Given the description of an element on the screen output the (x, y) to click on. 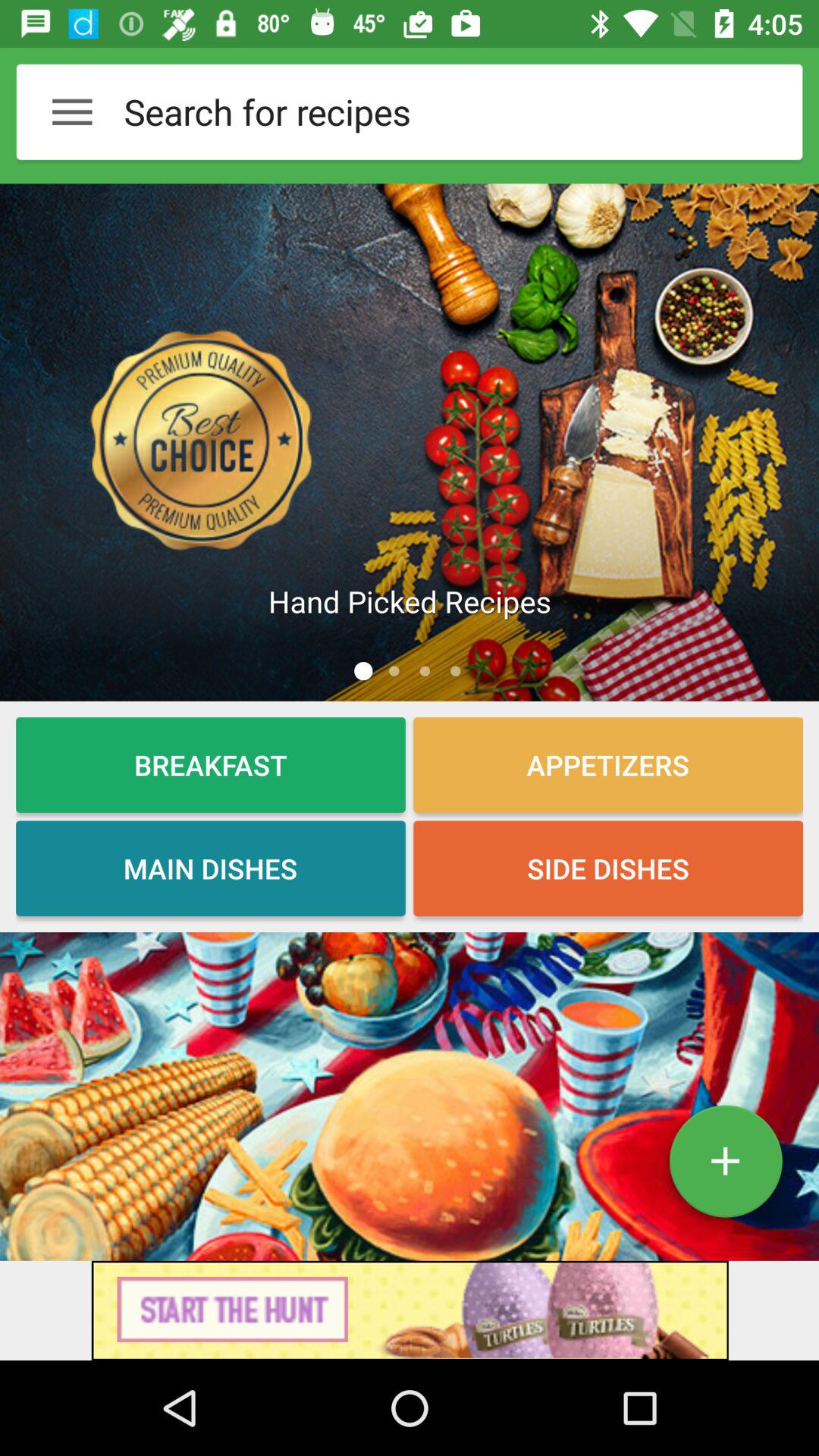
click on more options icon (72, 111)
click on the button which is below the breakfast (210, 868)
click on the  button which is at bottom right side of the page (725, 1167)
click on side dishes (608, 868)
